Given the description of an element on the screen output the (x, y) to click on. 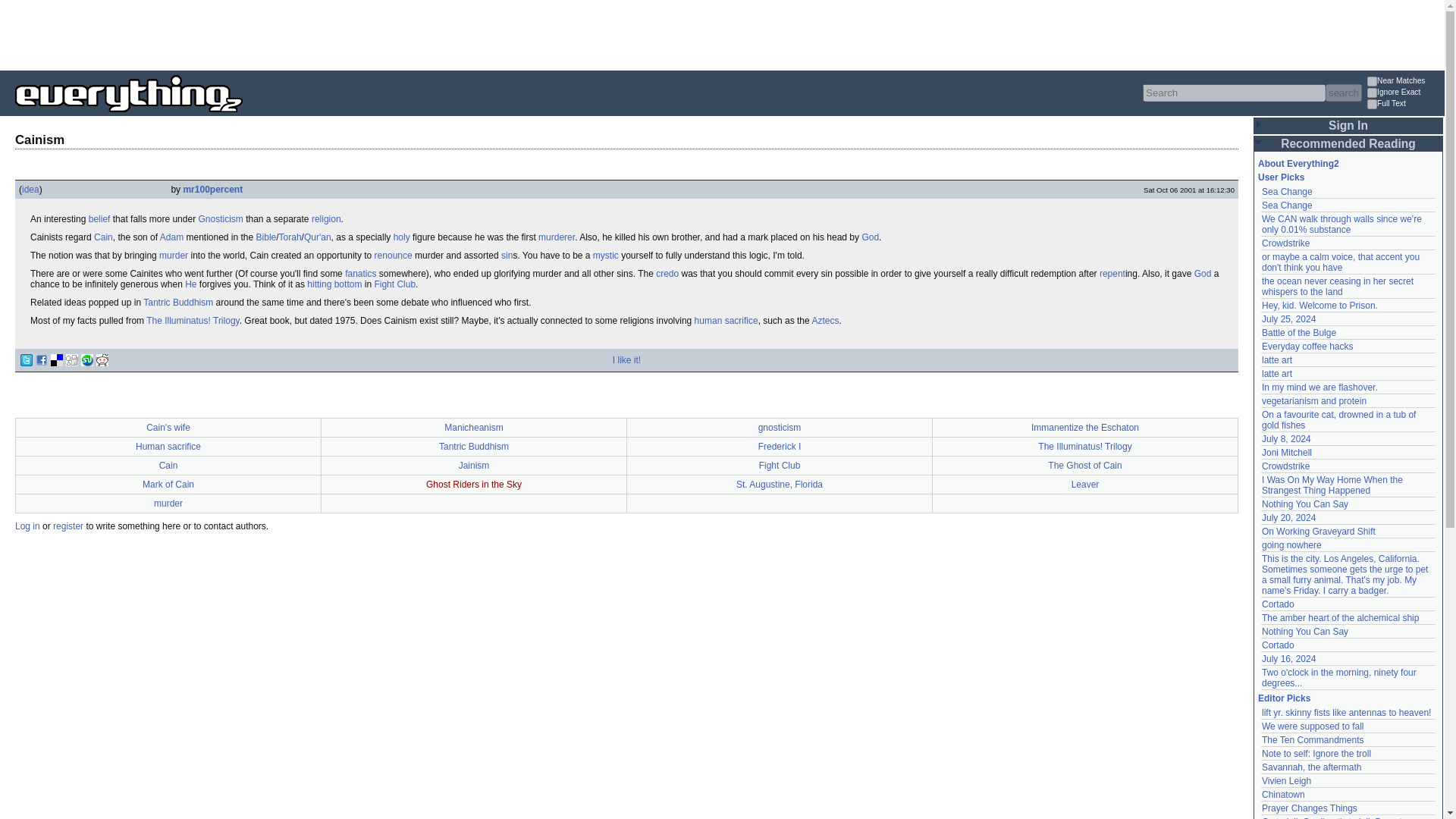
hitting bottom (334, 284)
murder (172, 255)
repent (1112, 273)
Qur'an (317, 236)
murderer (556, 236)
I like it! (626, 359)
Everything (242, 117)
Aztecs (824, 320)
mr100percent (213, 189)
1 (1372, 81)
Bible (266, 236)
renounce (393, 255)
mystic (605, 255)
Search within Everything2 (1342, 92)
renounce (393, 255)
